Given the description of an element on the screen output the (x, y) to click on. 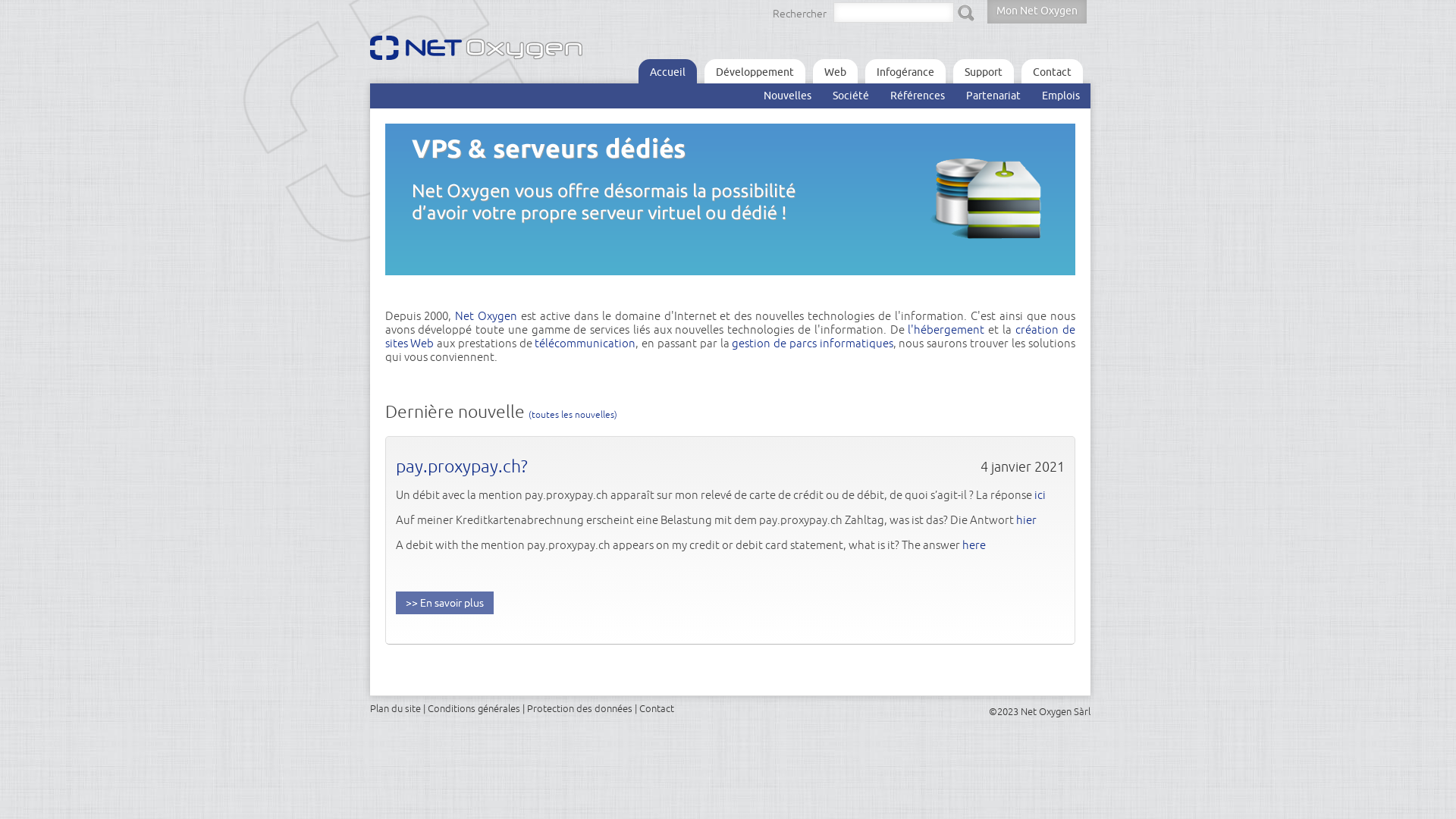
gestion de parcs informatiques Element type: text (811, 342)
2 Element type: text (400, 286)
Mon Net Oxygen Element type: text (1036, 11)
Prev Element type: text (1036, 290)
3 Element type: text (411, 286)
Contact Element type: text (655, 707)
En savoir plus Element type: text (444, 602)
Support Element type: text (982, 71)
Contact Element type: text (1051, 71)
Emplois Element type: text (1060, 95)
Next Element type: text (1063, 290)
Net Oxygen logo Element type: hover (487, 51)
Plan du site Element type: text (395, 707)
Partenariat Element type: text (993, 95)
Accueil Element type: text (667, 71)
(toutes les nouvelles) Element type: text (571, 414)
pay.proxypay.ch? Element type: text (461, 465)
hier Element type: text (1026, 519)
Net Oxygen Element type: text (486, 315)
here Element type: text (973, 544)
1 Element type: text (390, 286)
ici Element type: text (1039, 494)
Web Element type: text (834, 71)
Nouvelles Element type: text (786, 95)
